Given the description of an element on the screen output the (x, y) to click on. 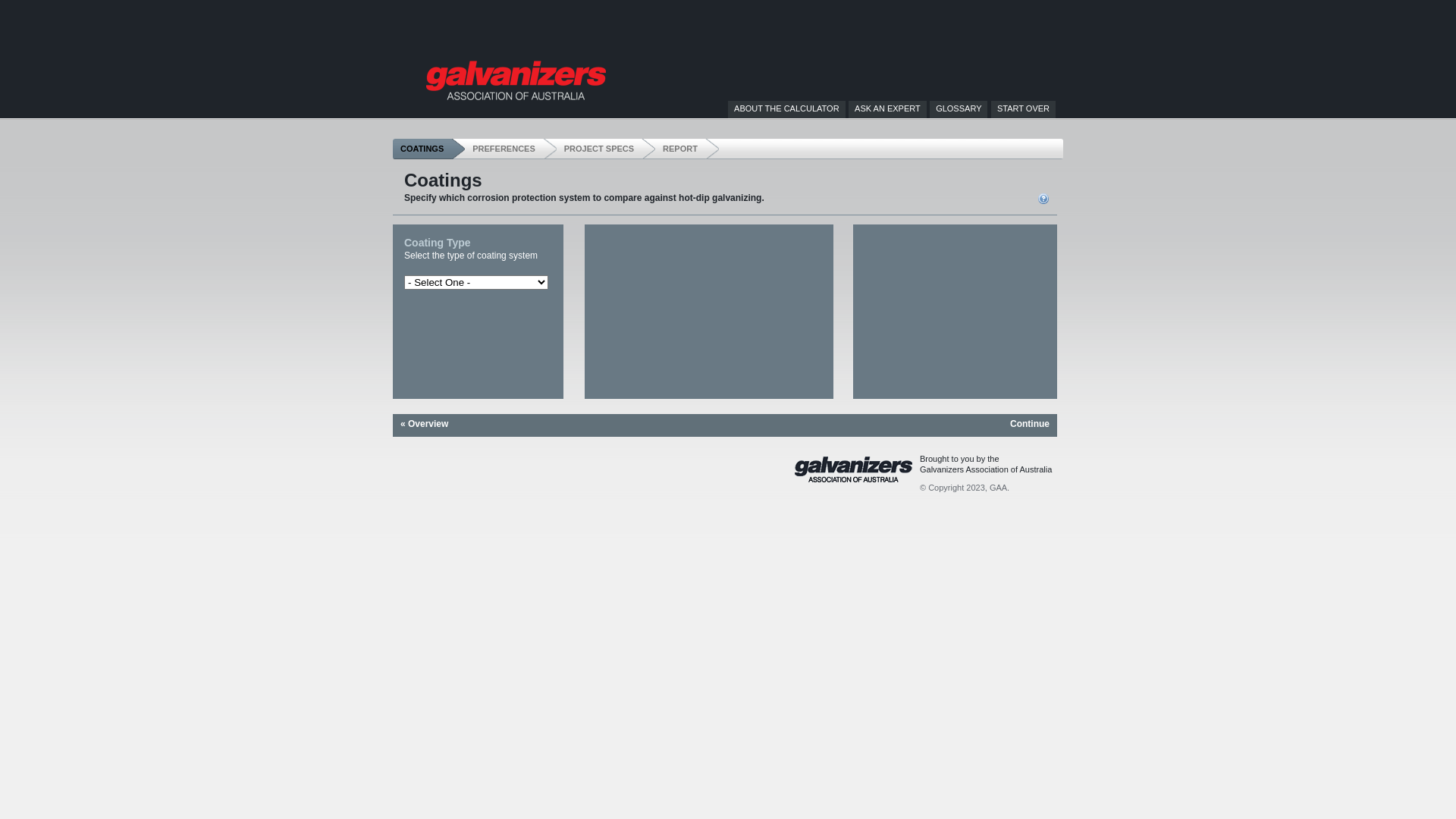
COATINGS Element type: text (428, 148)
GLOSSARY Element type: text (958, 107)
Continue Element type: text (1029, 423)
ASK AN EXPERT Element type: text (887, 107)
START OVER Element type: text (1023, 107)
ABOUT THE CALCULATOR Element type: text (786, 107)
